Given the description of an element on the screen output the (x, y) to click on. 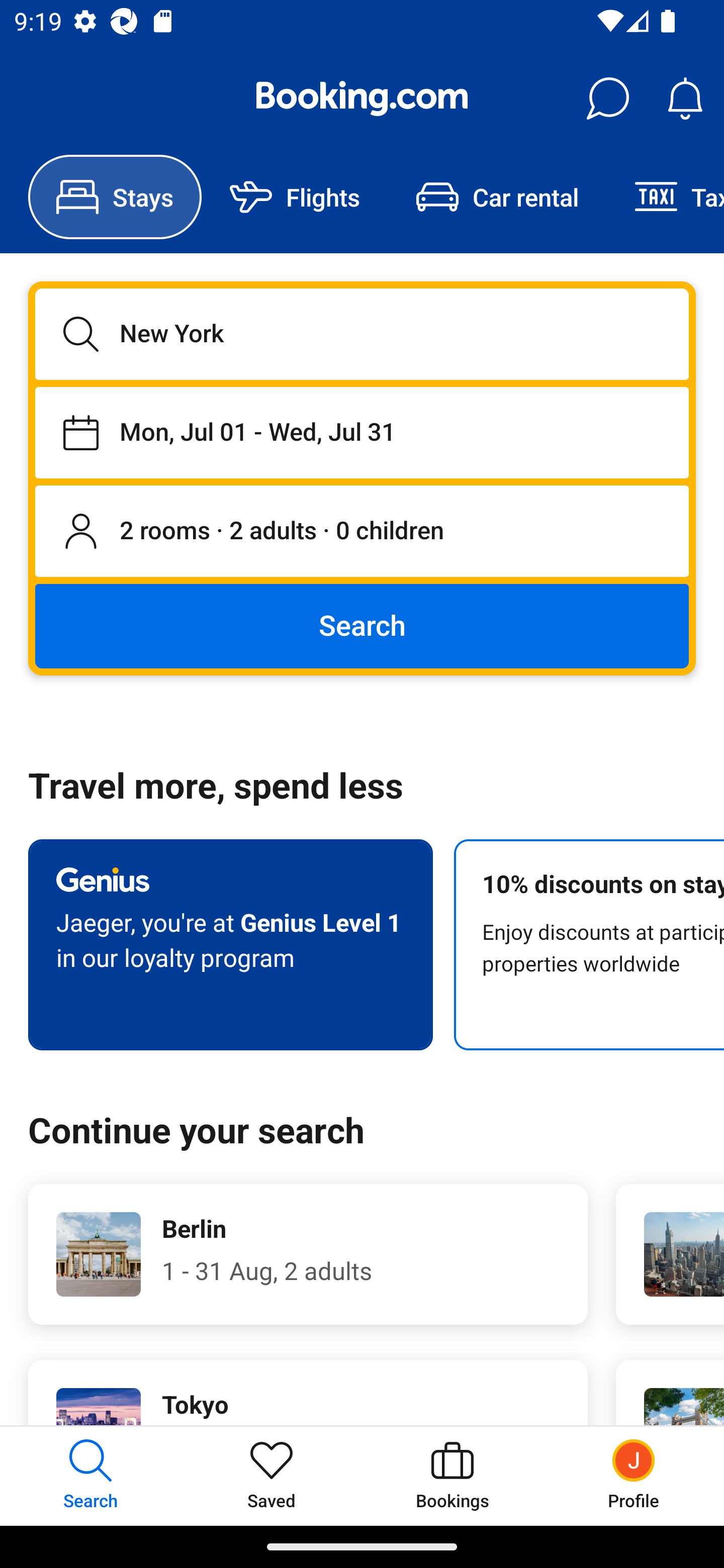
Messages (607, 98)
Notifications (685, 98)
Stays (114, 197)
Flights (294, 197)
Car rental (497, 197)
Taxi (665, 197)
New York (361, 333)
Staying from Mon, Jul 01 until Wed, Jul 31 (361, 432)
2 rooms, 2 adults, 0 children (361, 531)
Search (361, 625)
Berlin 1 - 31 Aug, 2 adults (307, 1253)
Saved (271, 1475)
Bookings (452, 1475)
Profile (633, 1475)
